Given the description of an element on the screen output the (x, y) to click on. 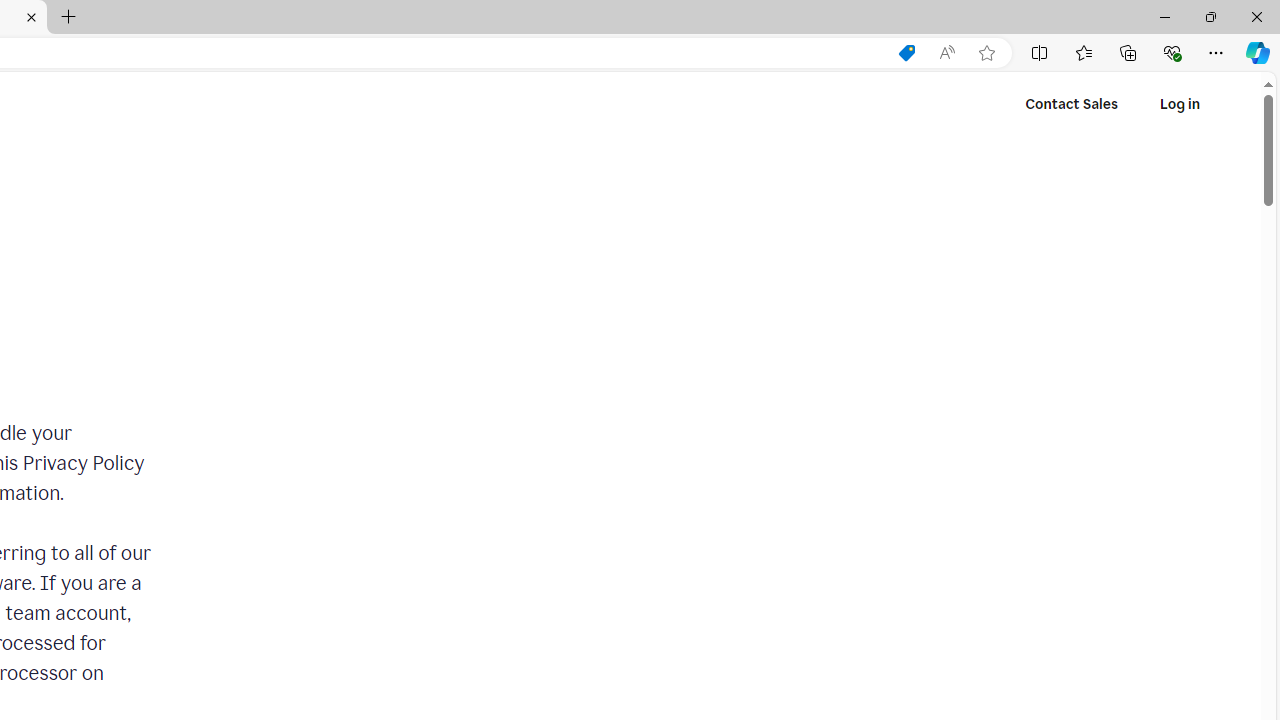
Contact Sales (1071, 103)
Log in (1179, 103)
